Given the description of an element on the screen output the (x, y) to click on. 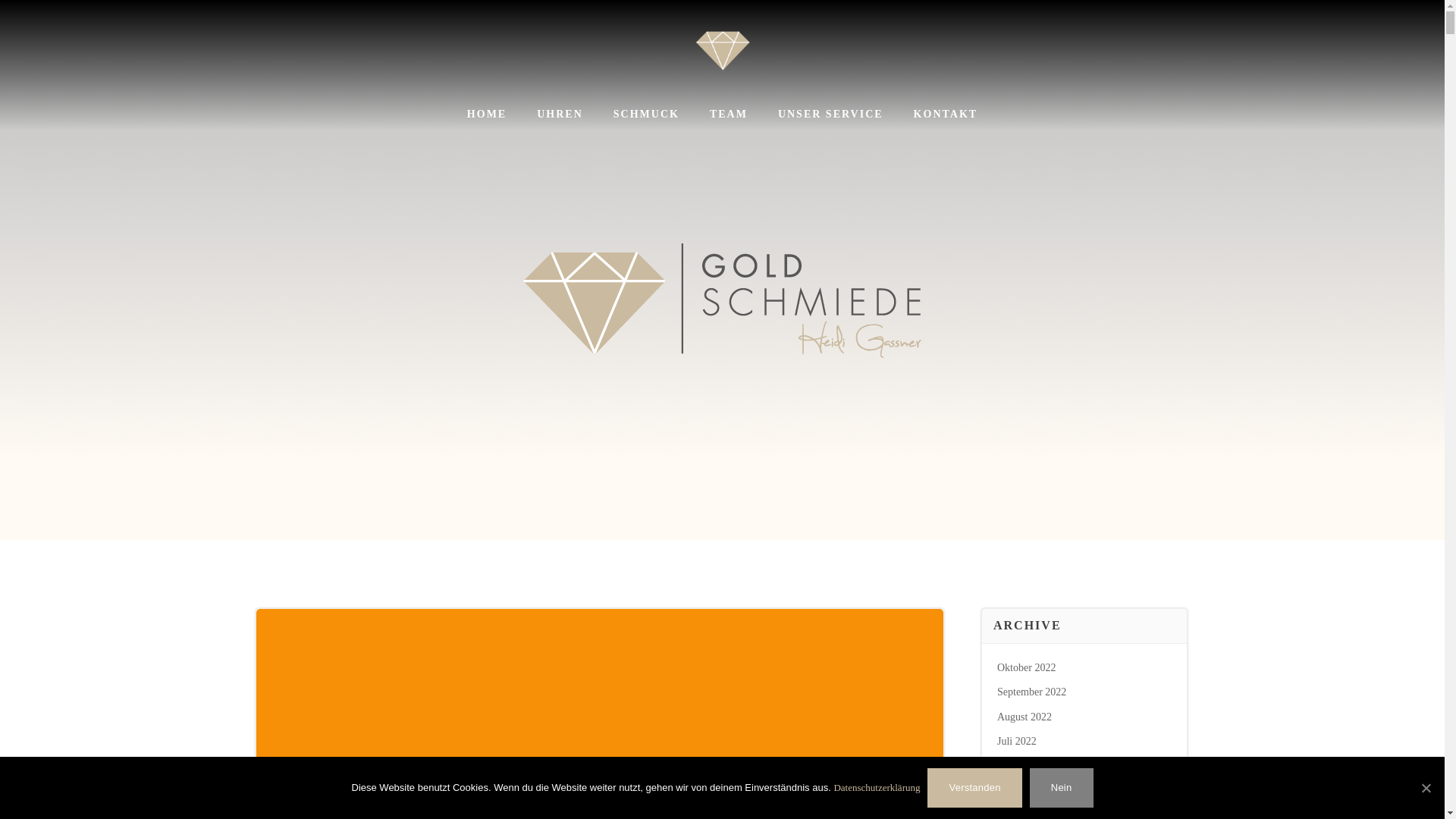
KONTAKT (946, 114)
Oktober 2022 (1026, 667)
UHREN (560, 114)
September 2022 (1031, 691)
Juli 2022 (1016, 740)
SCHMUCK (645, 114)
HOME (486, 114)
Mai 2022 (1017, 790)
April 2022 (1020, 814)
TEAM (729, 114)
